Given the description of an element on the screen output the (x, y) to click on. 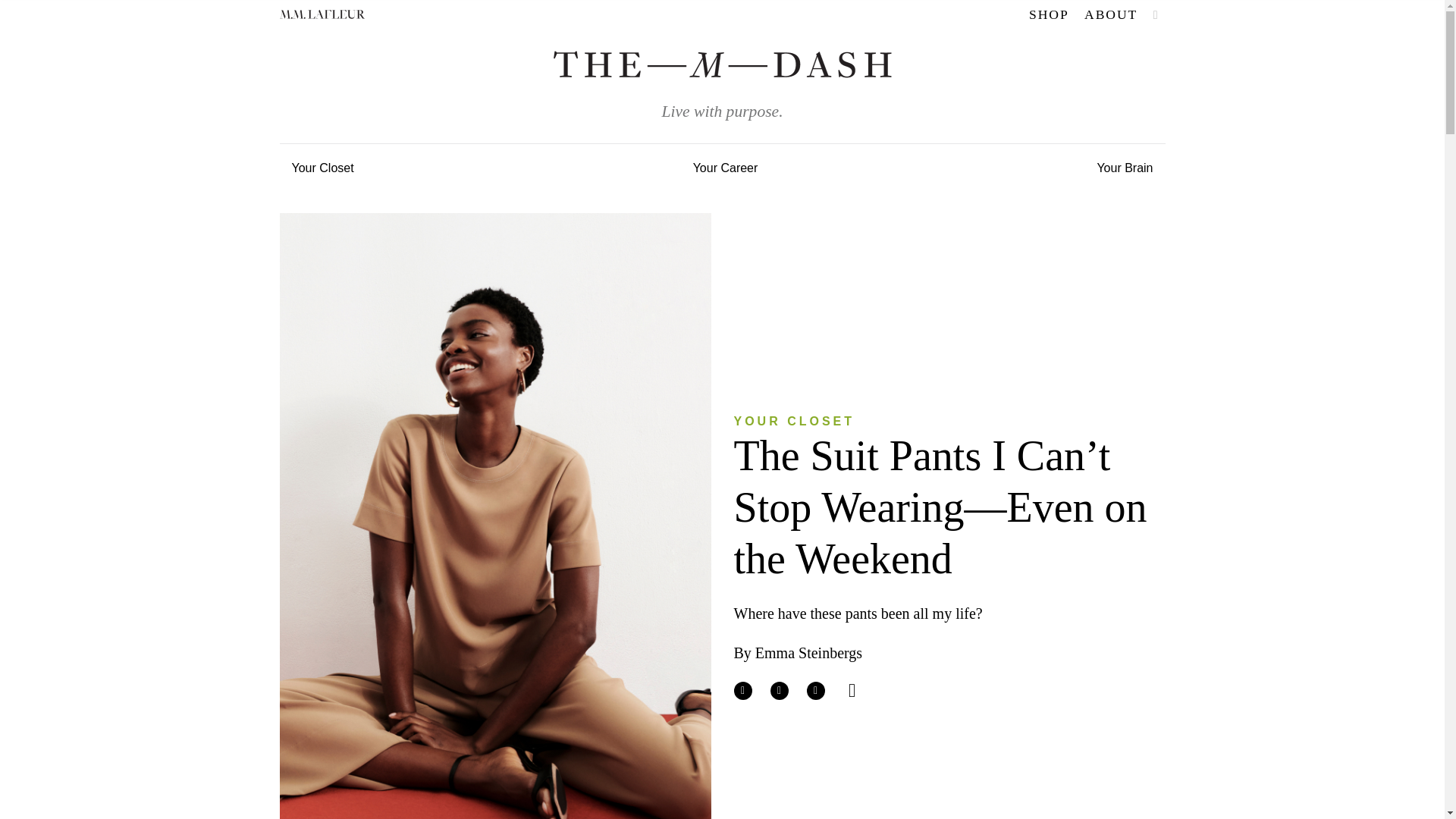
Search (1042, 61)
Your Brain (1124, 166)
Your Career (725, 166)
Share on Twitter (779, 690)
M.M.LaFleur (321, 13)
Share via Email (852, 690)
ABOUT (1110, 14)
Your Closet (322, 166)
Share on Facebook (742, 690)
Share on LinkedIn (815, 690)
SHOP (1049, 14)
SEARCH (1156, 15)
